Given the description of an element on the screen output the (x, y) to click on. 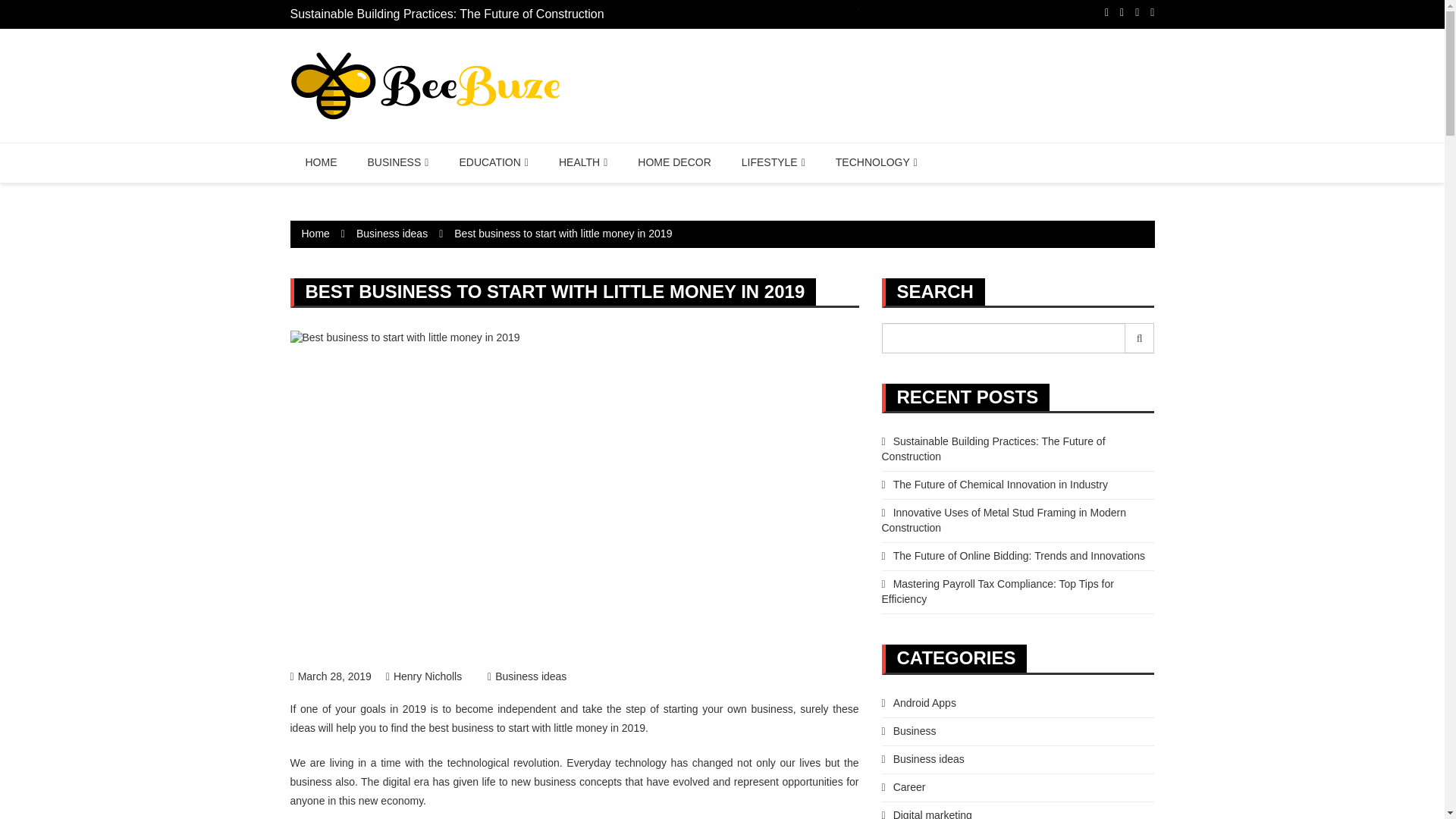
HOME DECOR (674, 162)
HOME (320, 162)
LIFESTYLE (773, 162)
BUSINESS (398, 162)
EDUCATION (493, 162)
TECHNOLOGY (877, 162)
HEALTH (583, 162)
Sustainable Building Practices: The Future of Construction (446, 13)
